Given the description of an element on the screen output the (x, y) to click on. 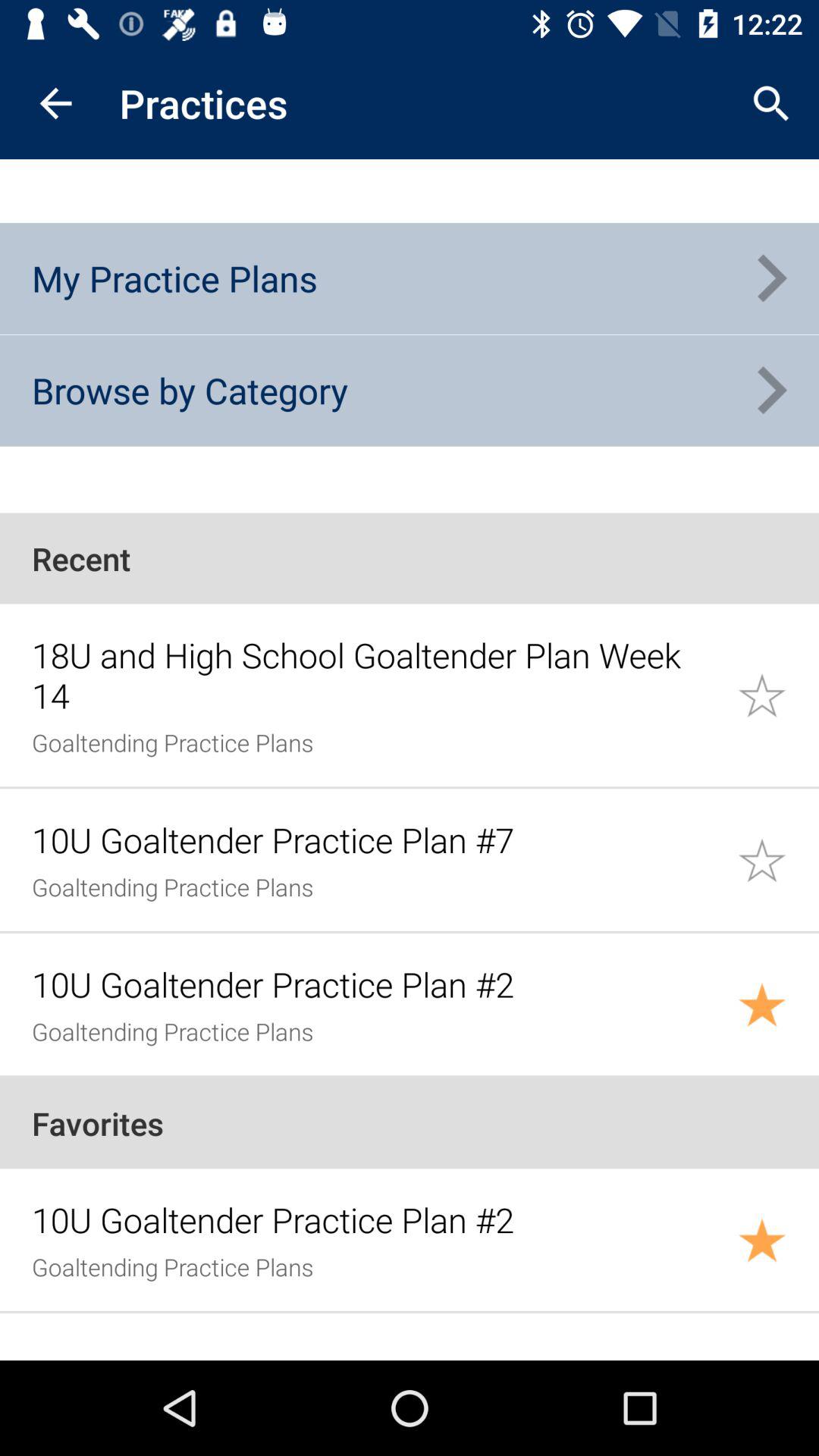
click the icon above goaltending practice plans icon (376, 674)
